Given the description of an element on the screen output the (x, y) to click on. 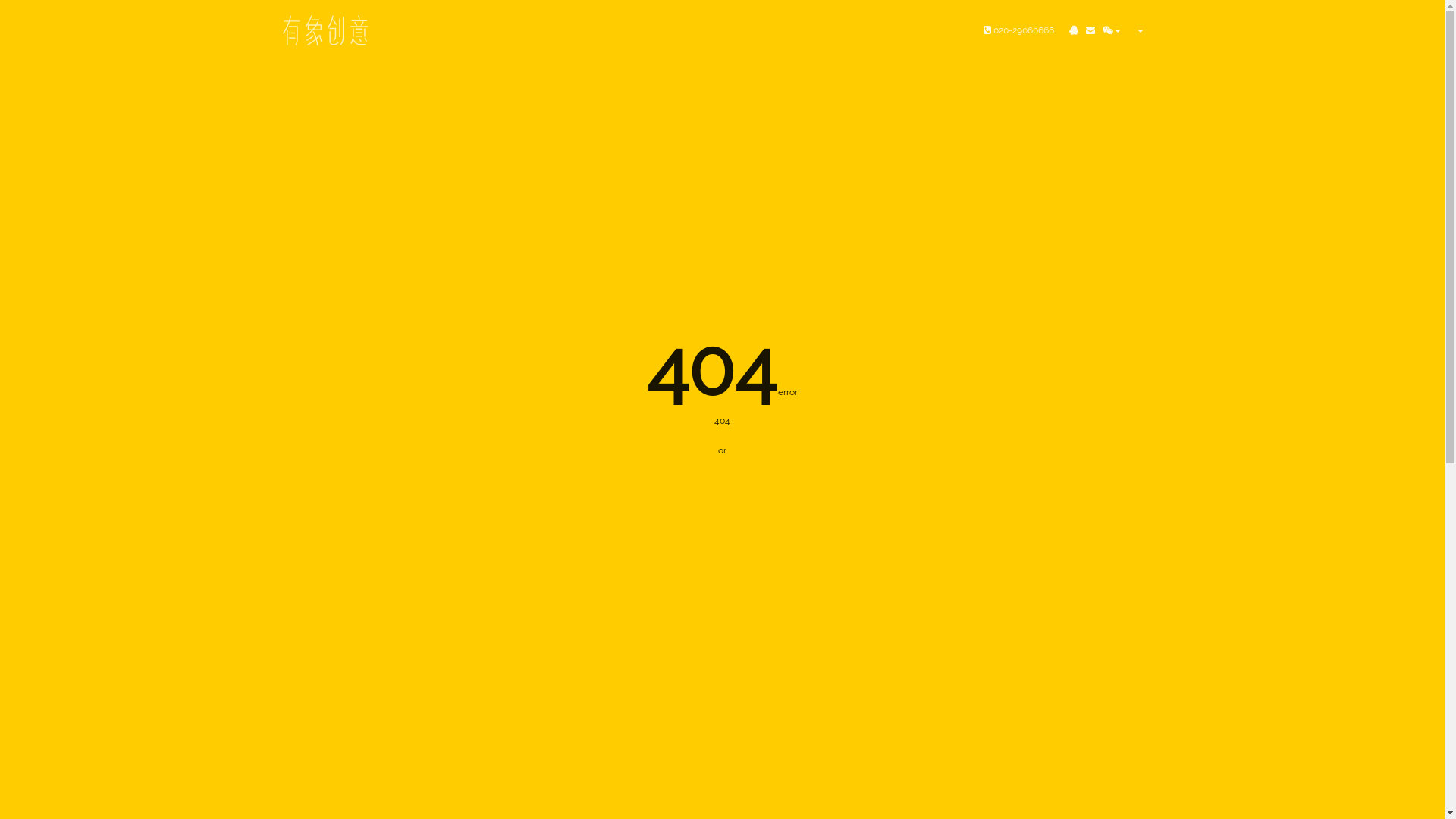
0
20-2
90
606
66 Element type: text (1018, 30)
